Given the description of an element on the screen output the (x, y) to click on. 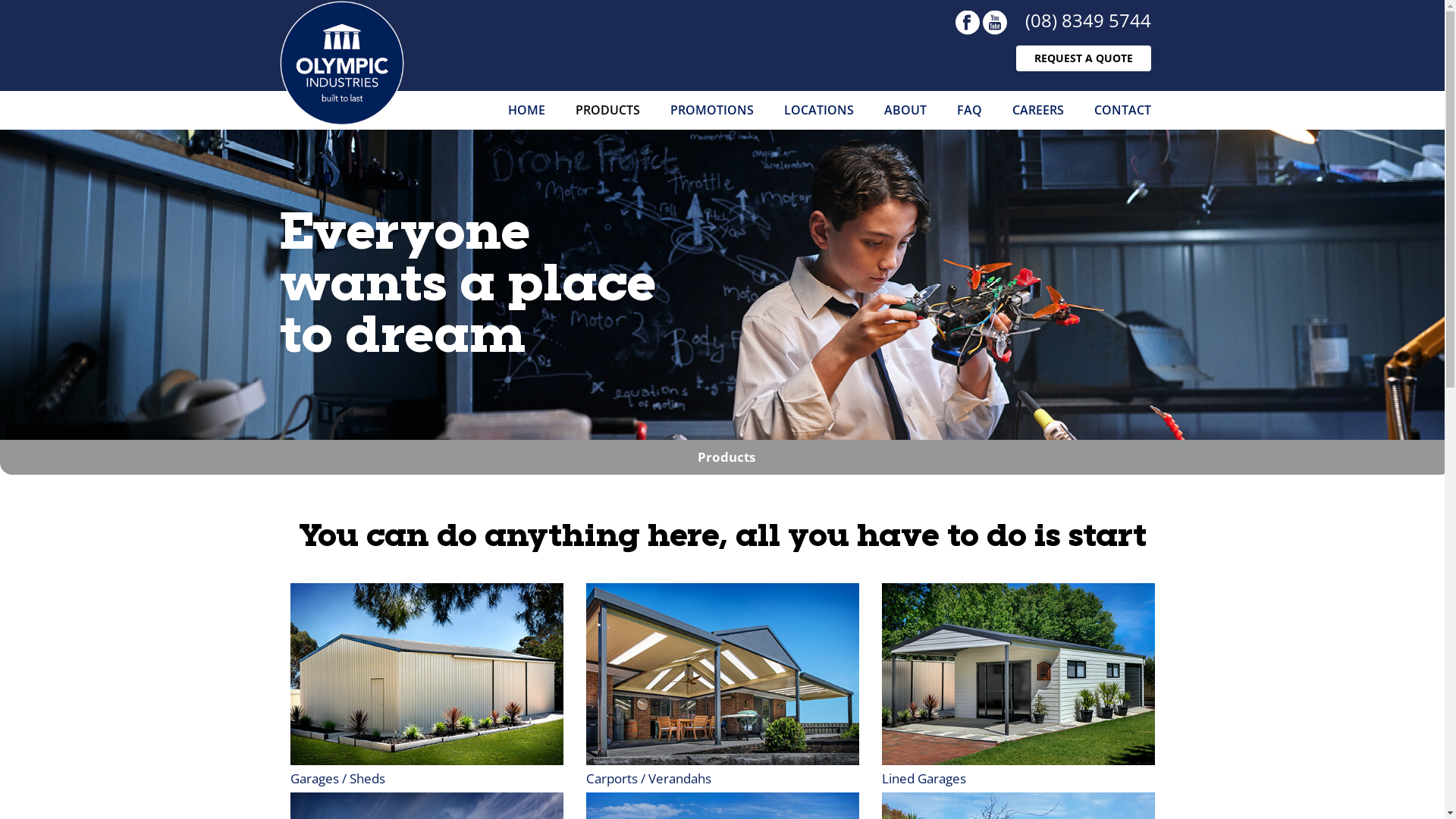
FAQ Element type: text (969, 110)
CAREERS Element type: text (1037, 110)
CONTACT Element type: text (1121, 110)
ABOUT Element type: text (905, 110)
LOCATIONS Element type: text (818, 110)
(08) 8349 5744 Element type: text (1088, 19)
Carports / Verandahs Element type: text (647, 778)
Garages / Sheds Element type: text (336, 778)
Lined Garages Element type: text (923, 778)
REQUEST A QUOTE Element type: text (1083, 58)
Olympic Industries Element type: hover (342, 63)
HOME Element type: text (526, 110)
PROMOTIONS Element type: text (711, 110)
PRODUCTS Element type: text (606, 110)
Products Element type: text (726, 456)
